Given the description of an element on the screen output the (x, y) to click on. 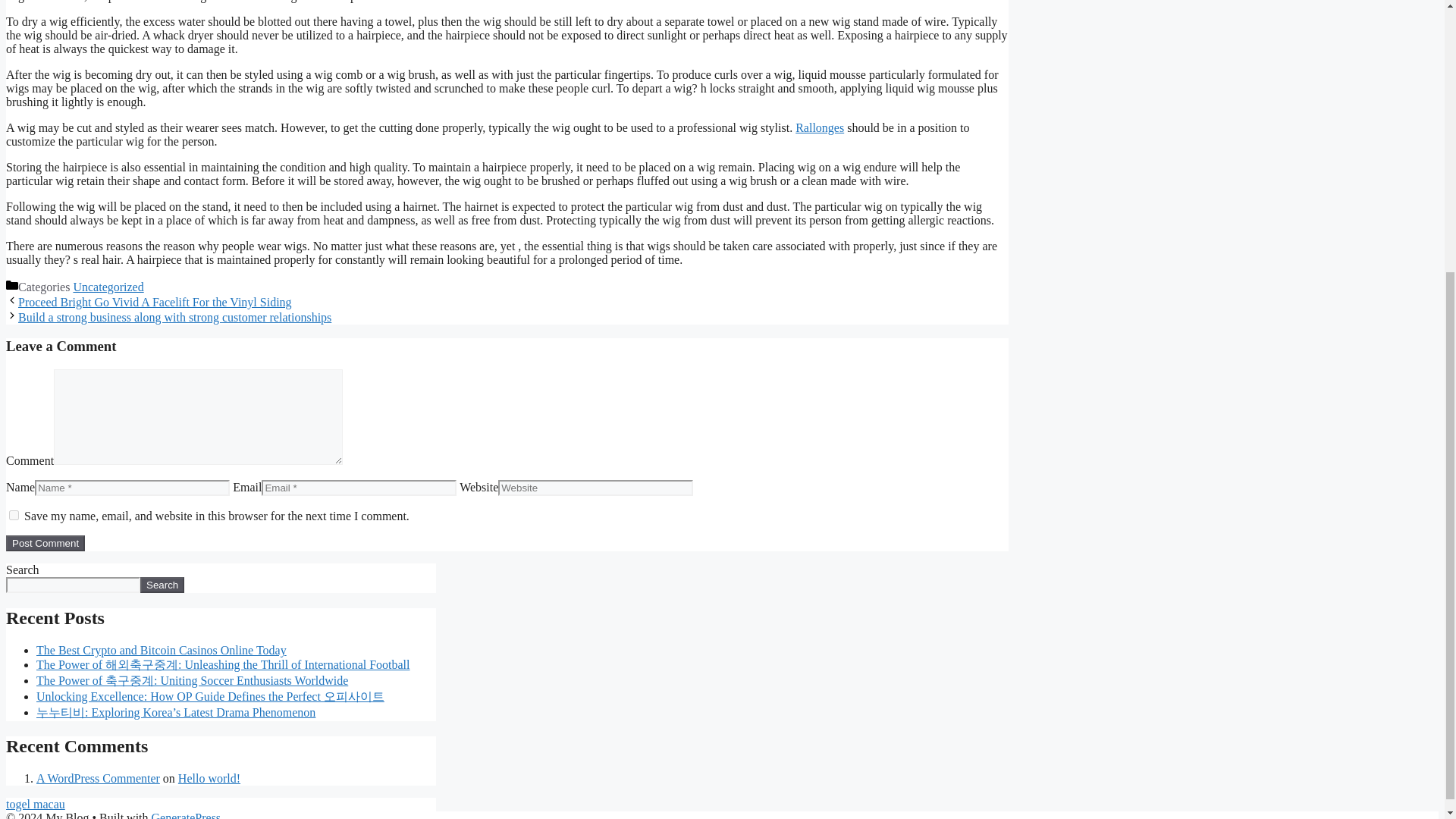
A WordPress Commenter (98, 778)
Proceed Bright Go Vivid A Facelift For the Vinyl Siding (154, 301)
togel macau (35, 803)
Rallonges (819, 127)
yes (13, 515)
Post Comment (44, 543)
Hello world! (208, 778)
The Best Crypto and Bitcoin Casinos Online Today (161, 649)
Search (161, 584)
